Given the description of an element on the screen output the (x, y) to click on. 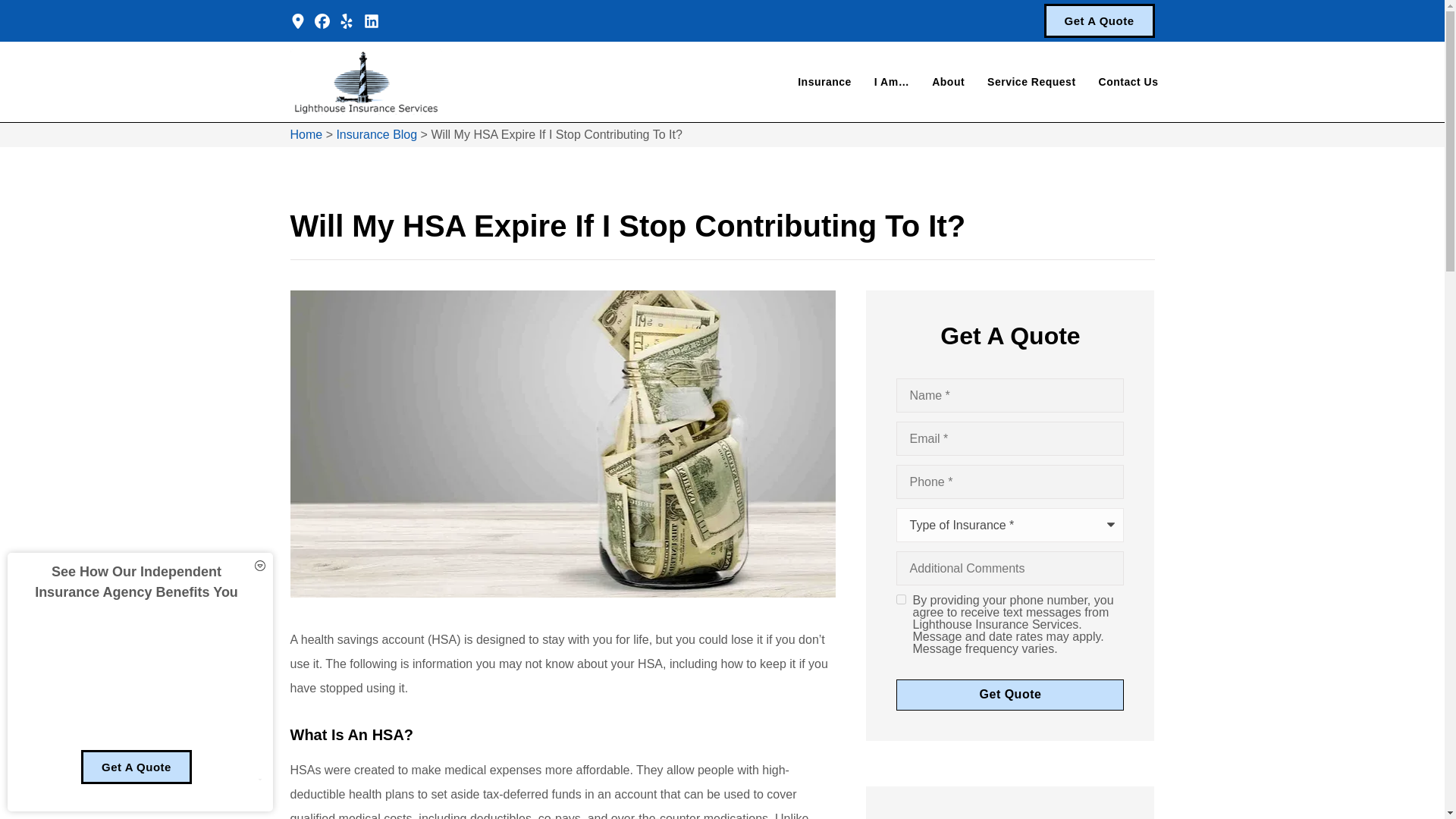
1 (900, 599)
Get A Quote (1098, 20)
Insurance (824, 81)
Lighthouse-Insurance-Services-logo (365, 81)
About (947, 81)
Get Quote (1010, 694)
